Given the description of an element on the screen output the (x, y) to click on. 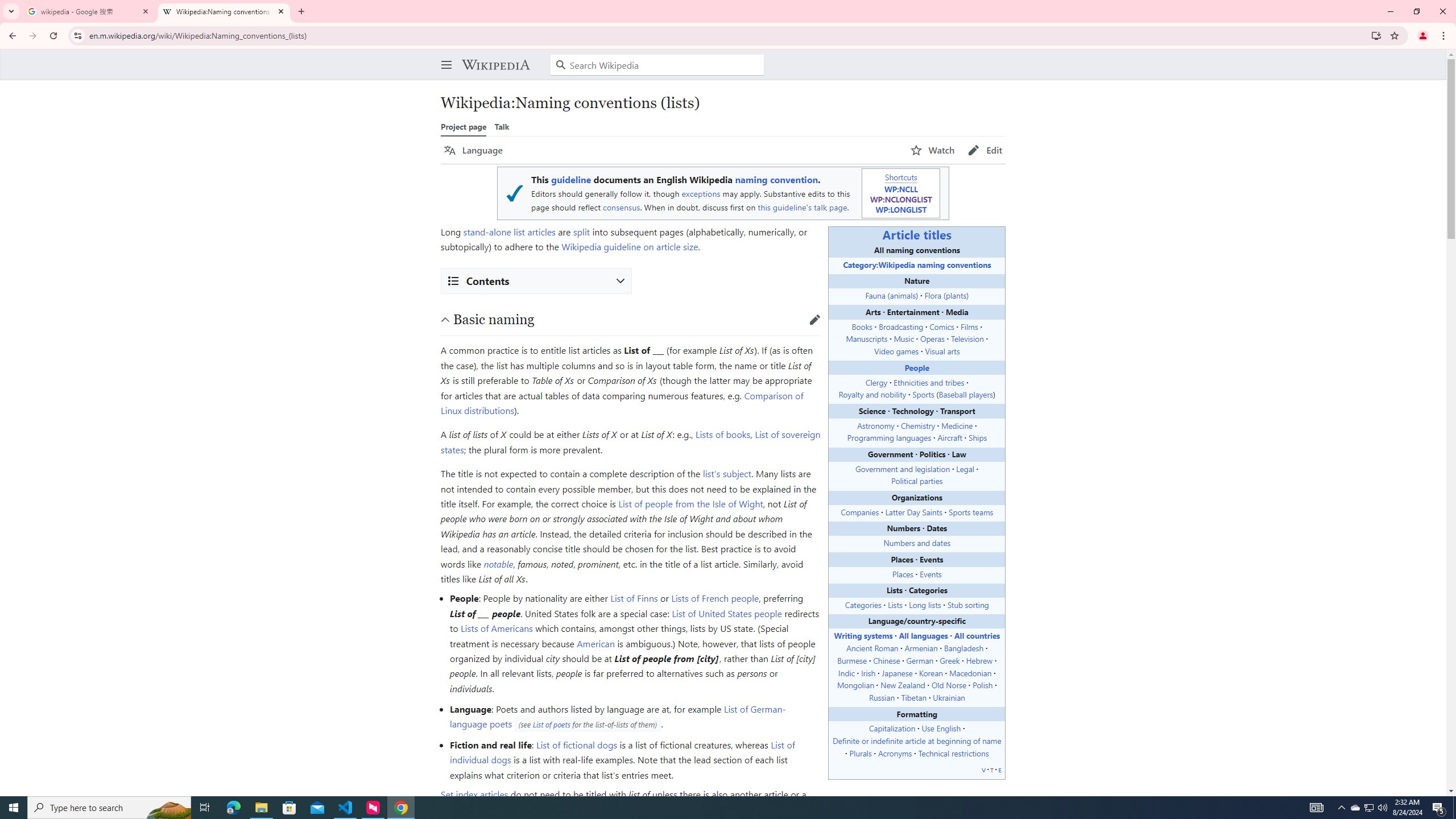
Video games (895, 350)
naming convention (776, 179)
List of poets (551, 724)
WP:NCLL (900, 188)
WP:NCLONGLIST (900, 198)
Language (472, 149)
Russian (880, 697)
Armenian (920, 647)
Companies (859, 511)
Polish (982, 684)
Old Norse (948, 684)
Project page (462, 126)
